Given the description of an element on the screen output the (x, y) to click on. 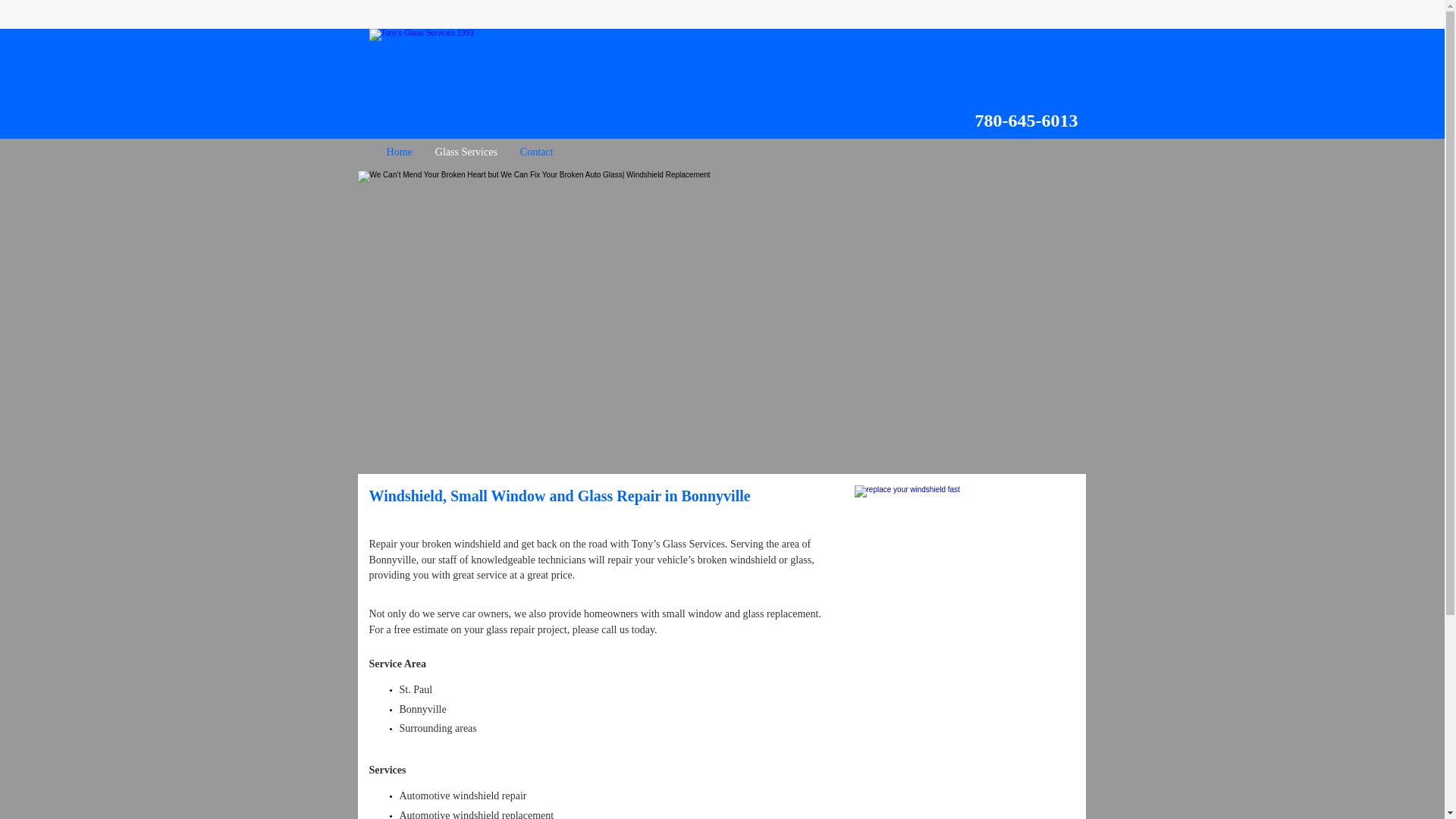
780-645-6013 (1026, 120)
Glass Services (470, 152)
Contact (540, 152)
Home (403, 152)
